Given the description of an element on the screen output the (x, y) to click on. 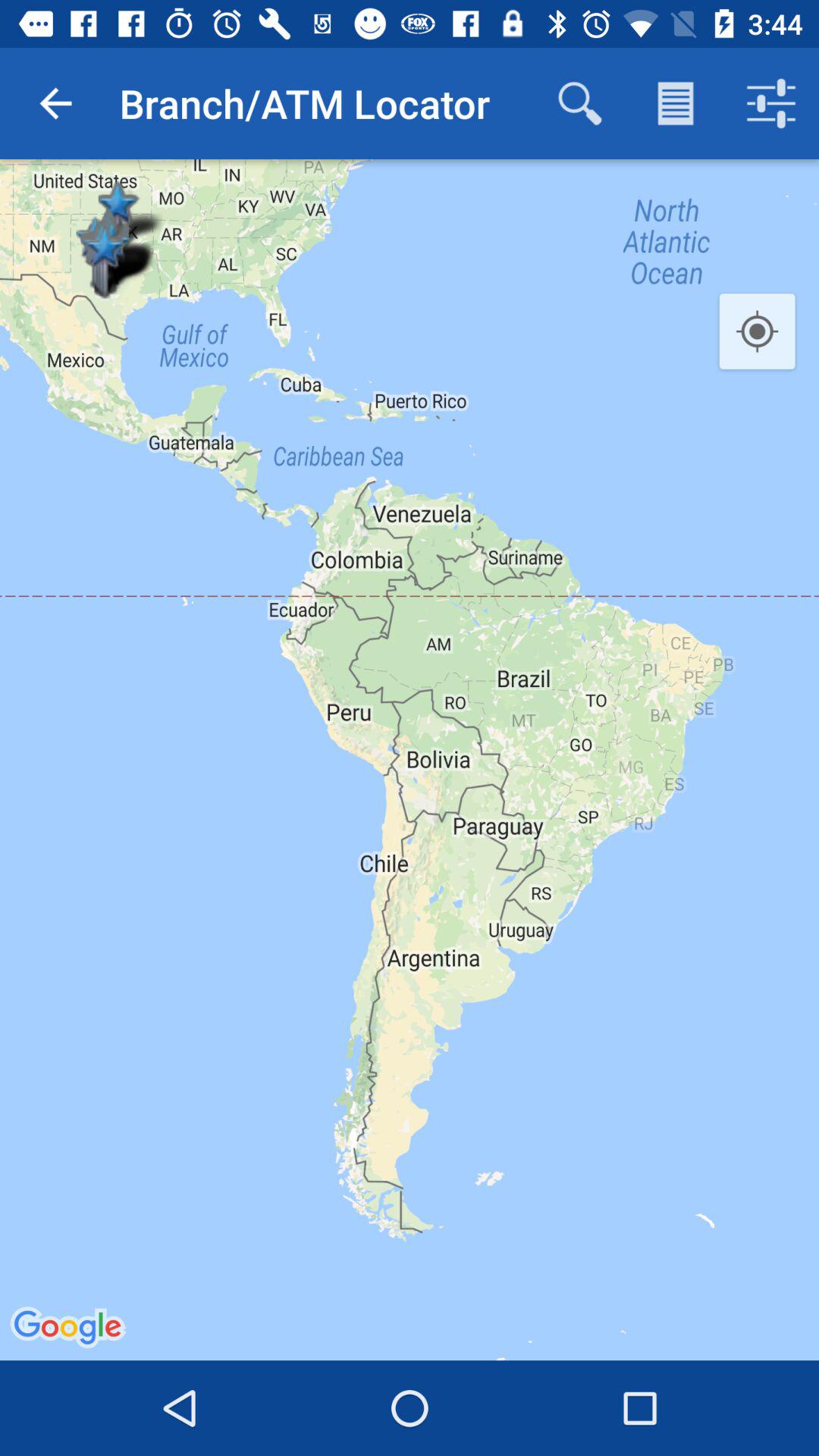
open app next to the branch/atm locator app (579, 103)
